Given the description of an element on the screen output the (x, y) to click on. 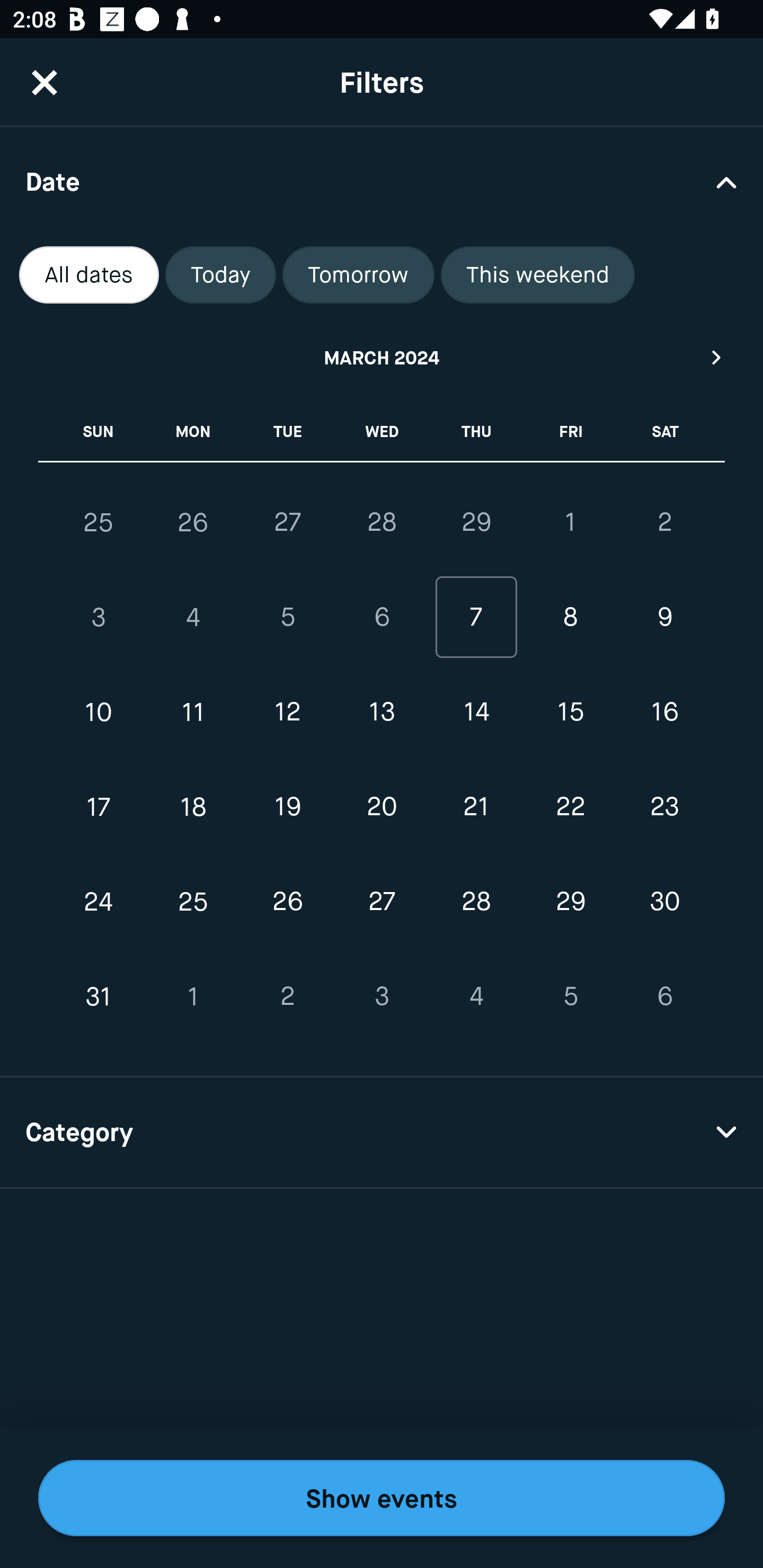
CloseButton (44, 82)
Date Drop Down Arrow (381, 181)
All dates (88, 274)
Today (220, 274)
Tomorrow (358, 274)
This weekend (537, 274)
Next (717, 357)
25 (98, 522)
26 (192, 522)
27 (287, 522)
28 (381, 522)
29 (475, 522)
1 (570, 522)
2 (664, 522)
3 (98, 617)
4 (192, 617)
5 (287, 617)
6 (381, 617)
7 (475, 617)
8 (570, 617)
9 (664, 617)
10 (98, 711)
11 (192, 711)
12 (287, 711)
13 (381, 711)
14 (475, 711)
15 (570, 711)
16 (664, 711)
17 (98, 806)
18 (192, 806)
19 (287, 806)
20 (381, 806)
21 (475, 806)
22 (570, 806)
23 (664, 806)
24 (98, 901)
25 (192, 901)
26 (287, 901)
27 (381, 901)
28 (475, 901)
29 (570, 901)
30 (664, 901)
31 (98, 996)
1 (192, 996)
2 (287, 996)
3 (381, 996)
4 (475, 996)
5 (570, 996)
6 (664, 996)
Category Drop Down Arrow (381, 1132)
Show events (381, 1497)
